Given the description of an element on the screen output the (x, y) to click on. 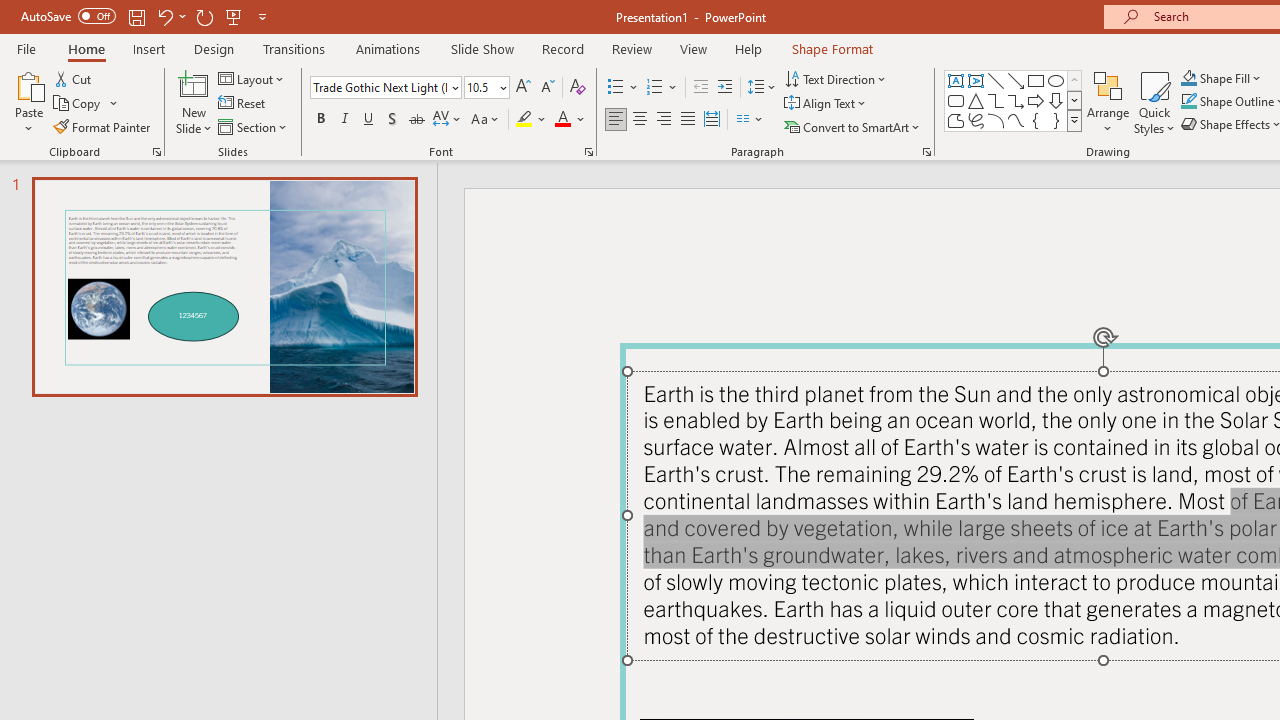
Shape Fill Aqua, Accent 2 (1188, 78)
